Given the description of an element on the screen output the (x, y) to click on. 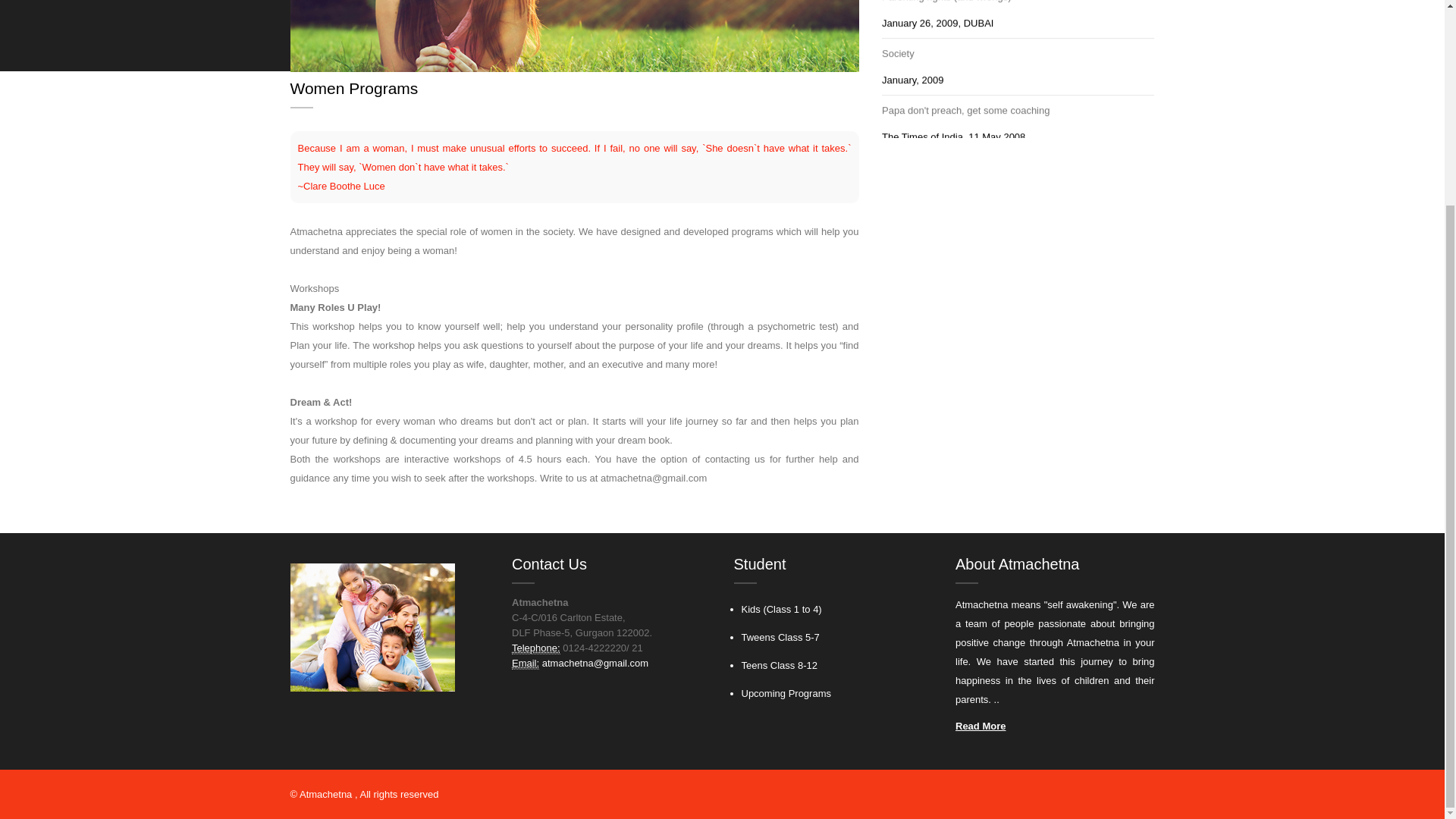
January, 2009 (911, 180)
Telephone (536, 648)
Email (525, 663)
January 26, 2009, DUBAI (936, 124)
The Times of India, 11 May 2008 (952, 235)
